Given the description of an element on the screen output the (x, y) to click on. 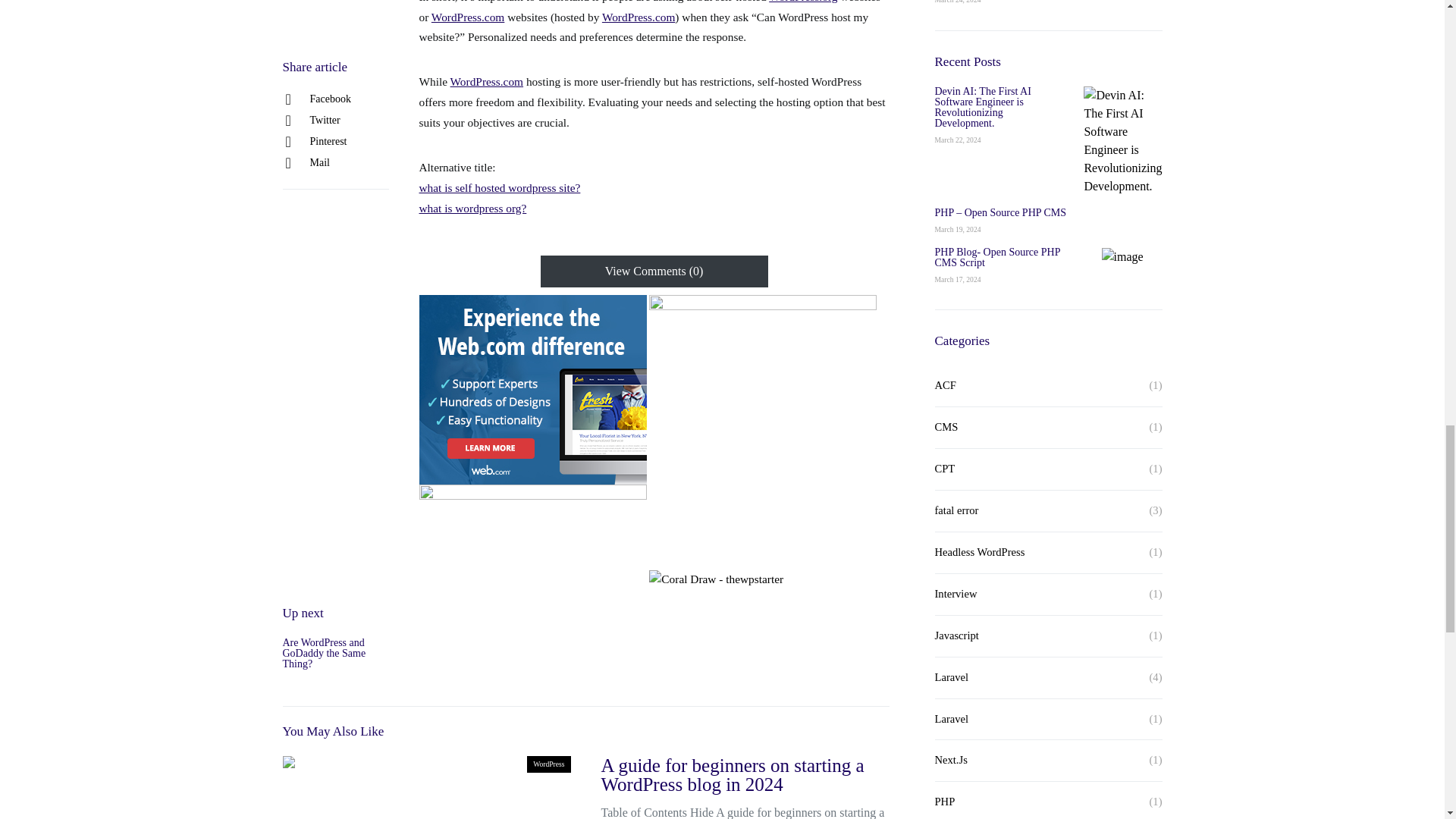
PHP Blog- Open Source PHP CMS Script 44 (1121, 63)
